Given the description of an element on the screen output the (x, y) to click on. 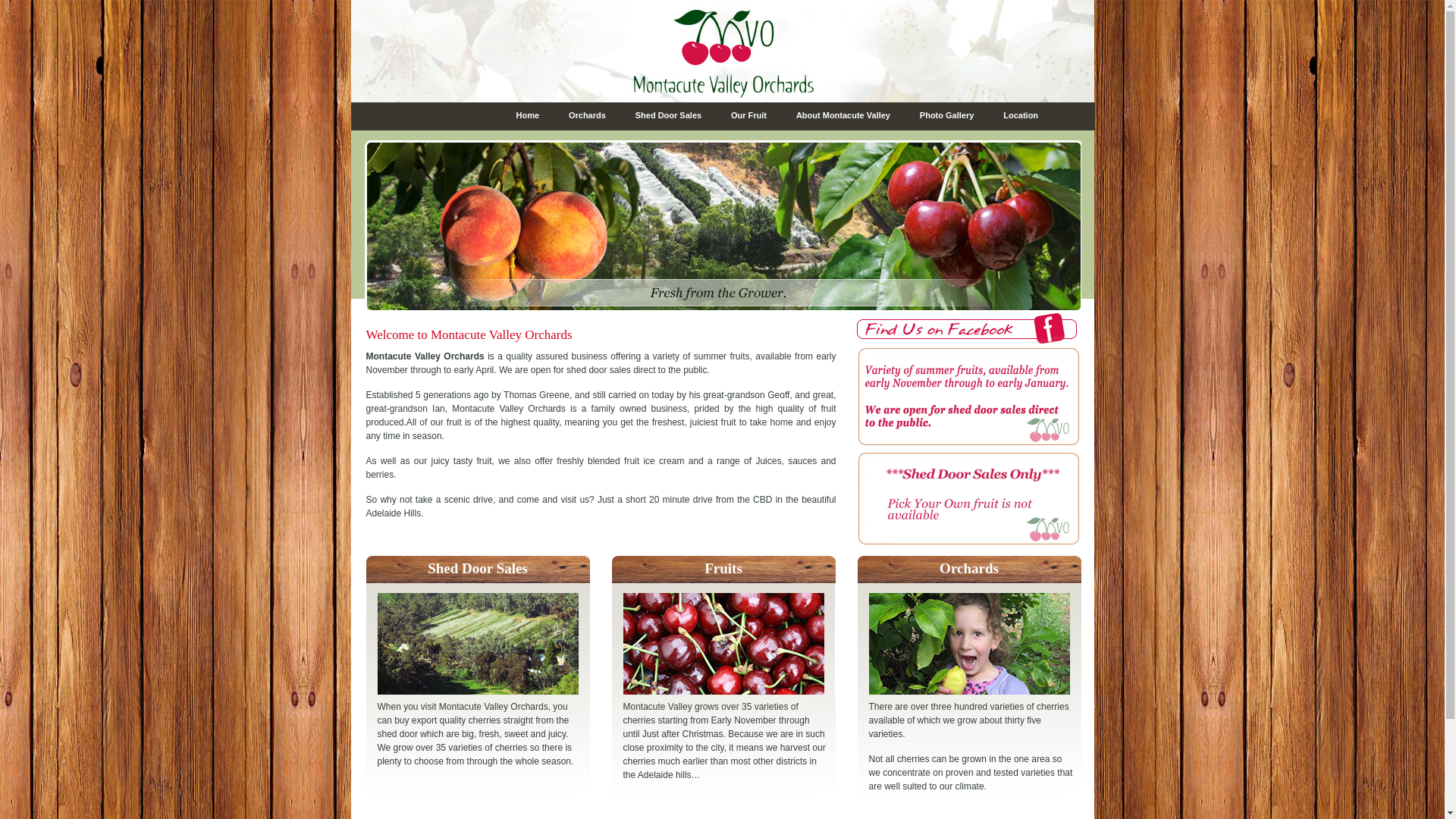
Orchards Element type: text (587, 115)
Fruits Element type: text (723, 568)
About Montacute Valley Element type: text (842, 115)
Our Fruit Element type: text (748, 115)
Shed Door Sales Element type: text (668, 115)
Location Element type: text (1020, 115)
Orchards Element type: text (968, 568)
Home Element type: text (527, 115)
Photo Gallery Element type: text (947, 115)
Shed Door Sales Element type: text (477, 568)
